Given the description of an element on the screen output the (x, y) to click on. 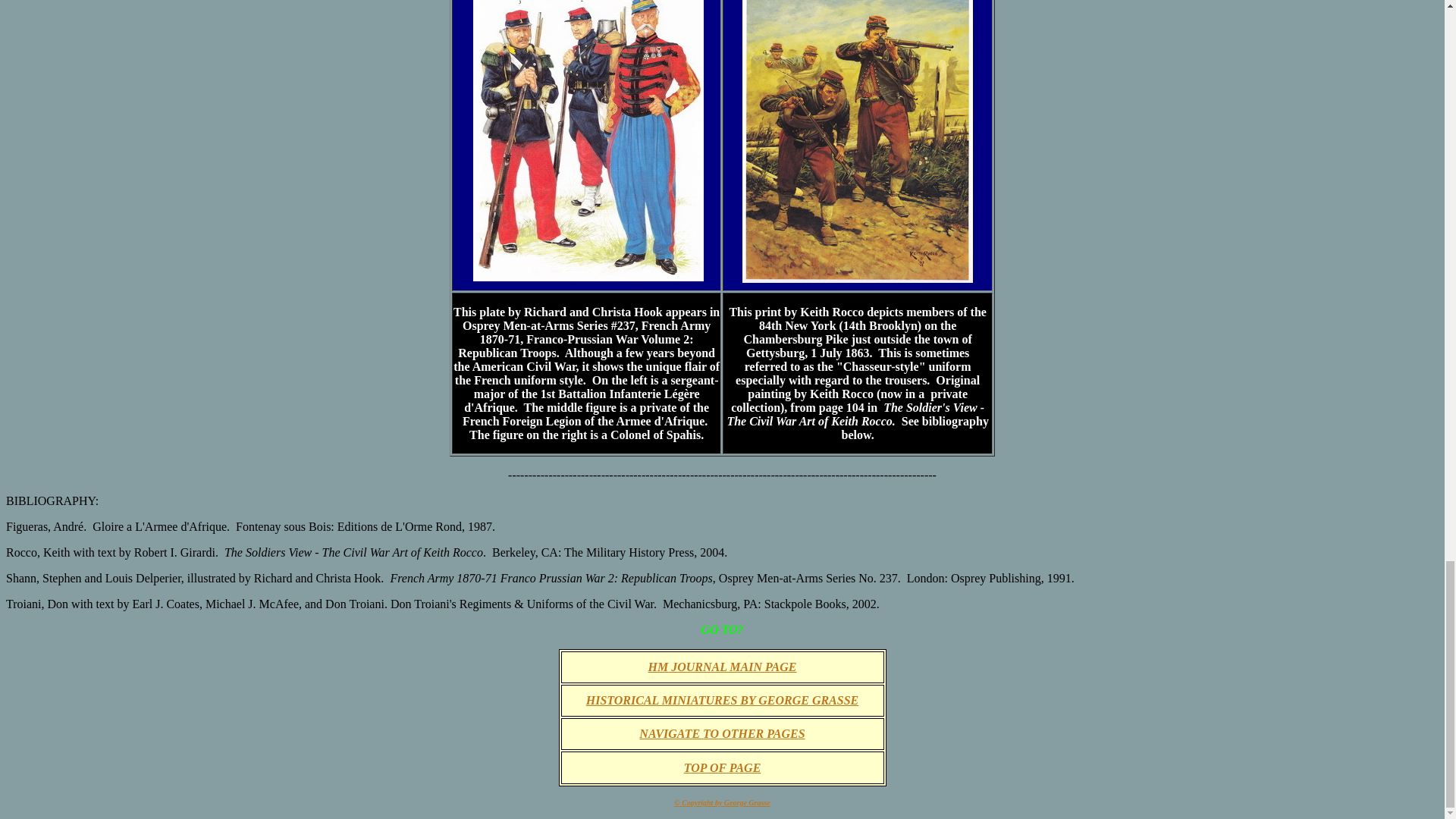
NAVIGATE TO OTHER PAGES (722, 733)
HM JOURNAL MAIN PAGE (721, 666)
TOP OF PAGE (722, 766)
HISTORICAL MINIATURES BY GEORGE GRASSE (722, 699)
